Given the description of an element on the screen output the (x, y) to click on. 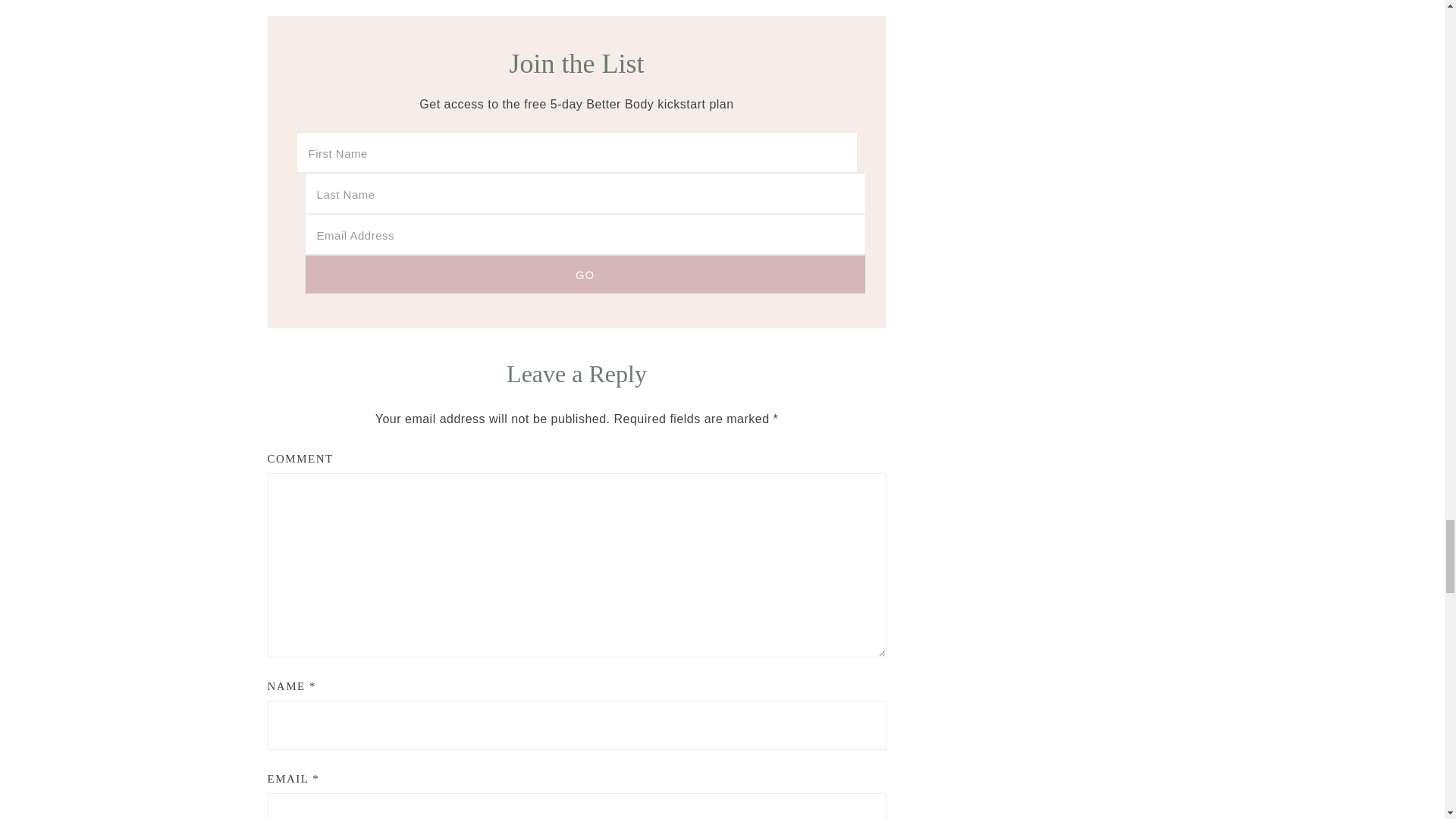
Go (585, 274)
